Given the description of an element on the screen output the (x, y) to click on. 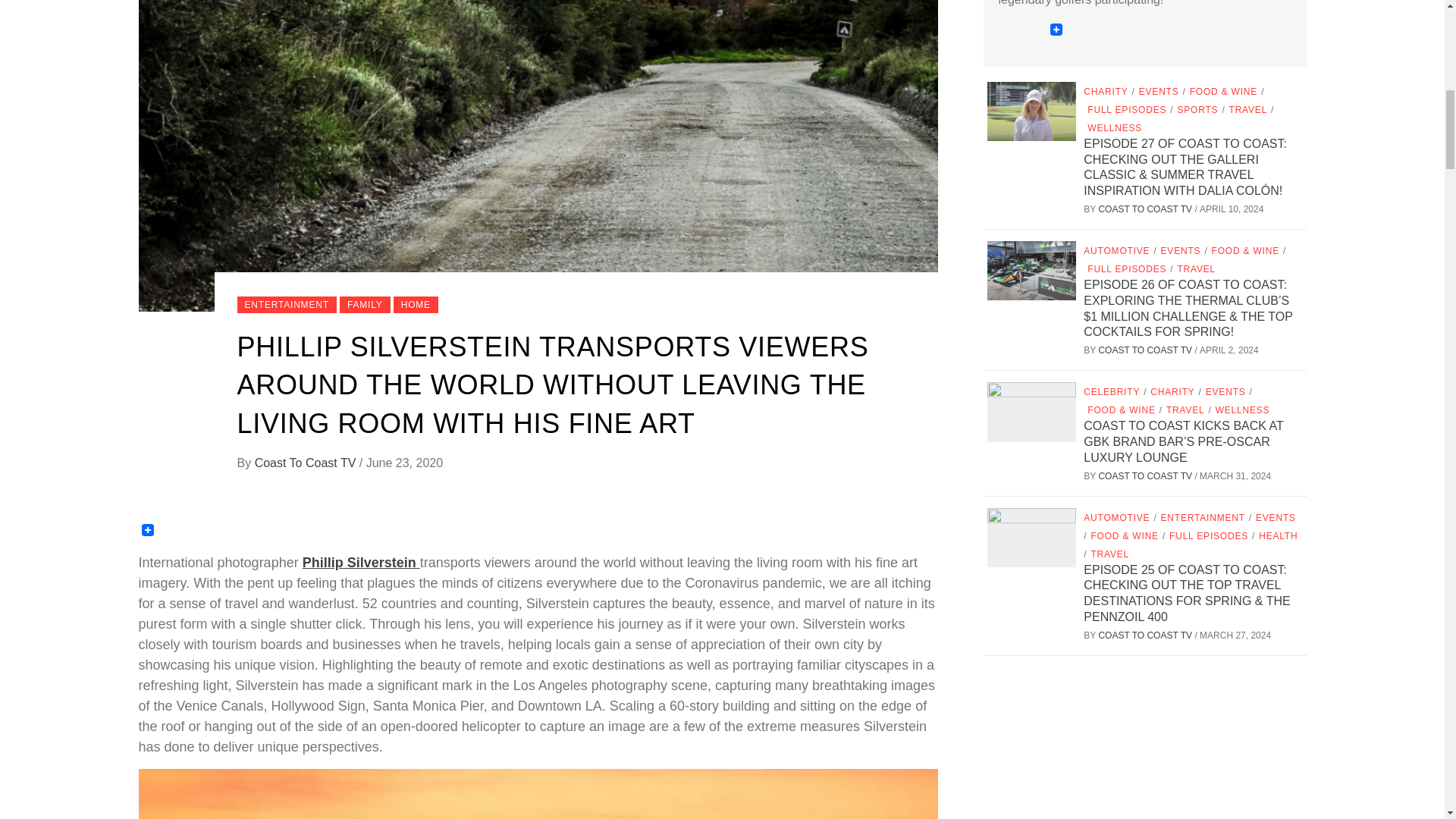
Coast To Coast TV (306, 462)
ENTERTAINMENT (285, 304)
Phillip Silverstein (361, 562)
FAMILY (364, 304)
HOME (415, 304)
